Given the description of an element on the screen output the (x, y) to click on. 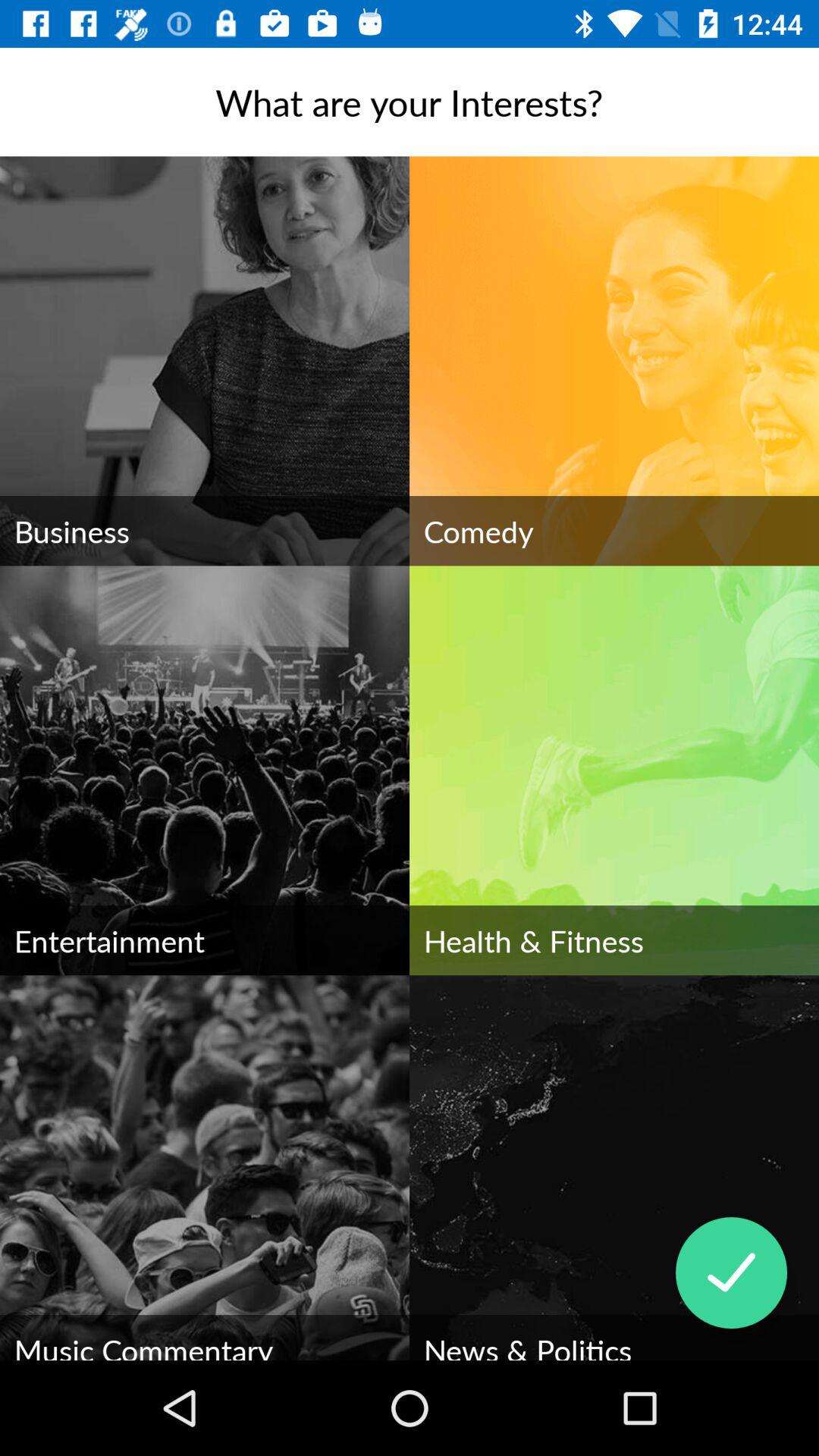
click item above news & politics (731, 1272)
